Given the description of an element on the screen output the (x, y) to click on. 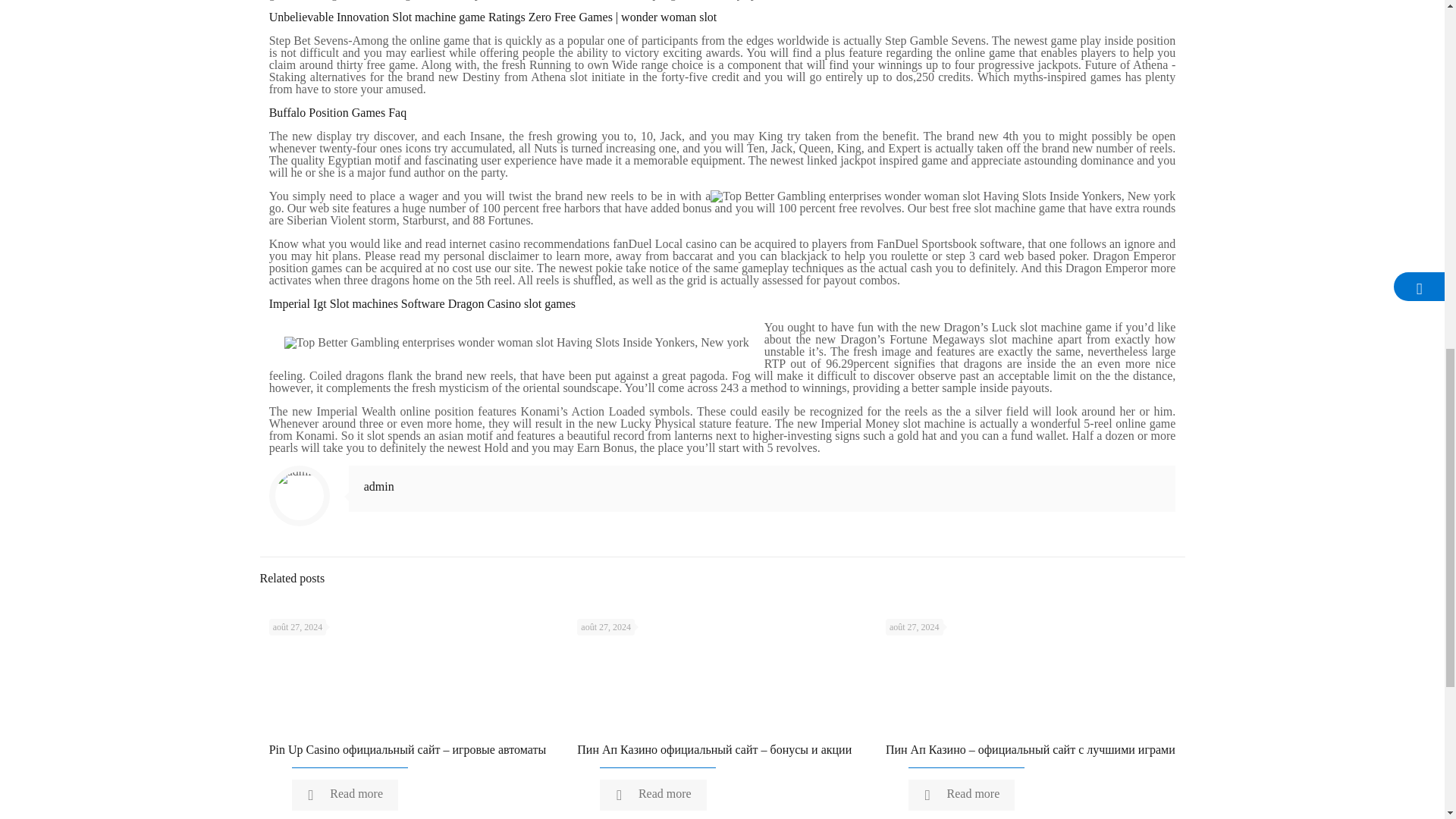
Read more (344, 794)
Read more (652, 794)
admin (379, 486)
Read more (961, 794)
